Given the description of an element on the screen output the (x, y) to click on. 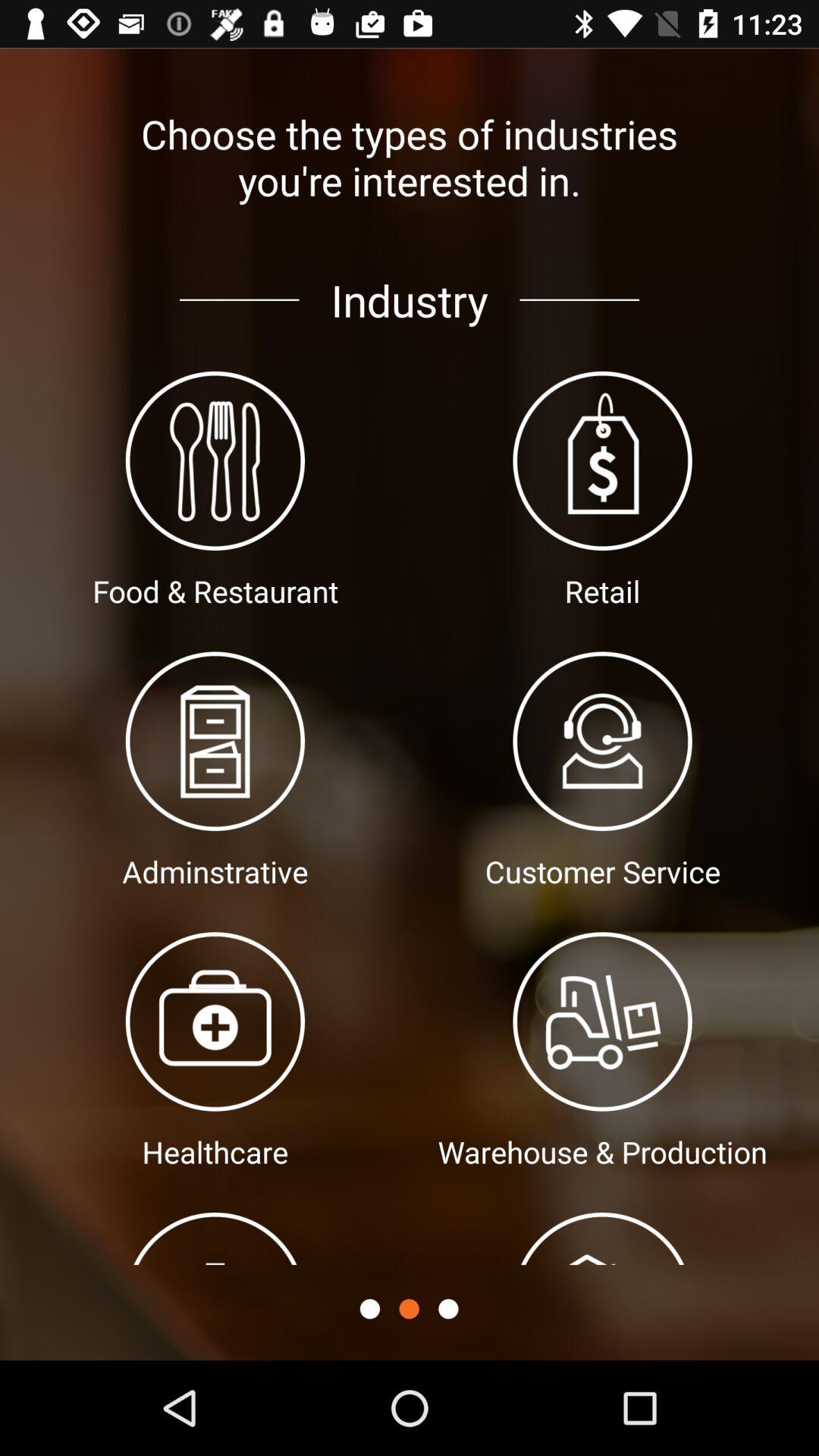
scroll to next screen (448, 1308)
